Given the description of an element on the screen output the (x, y) to click on. 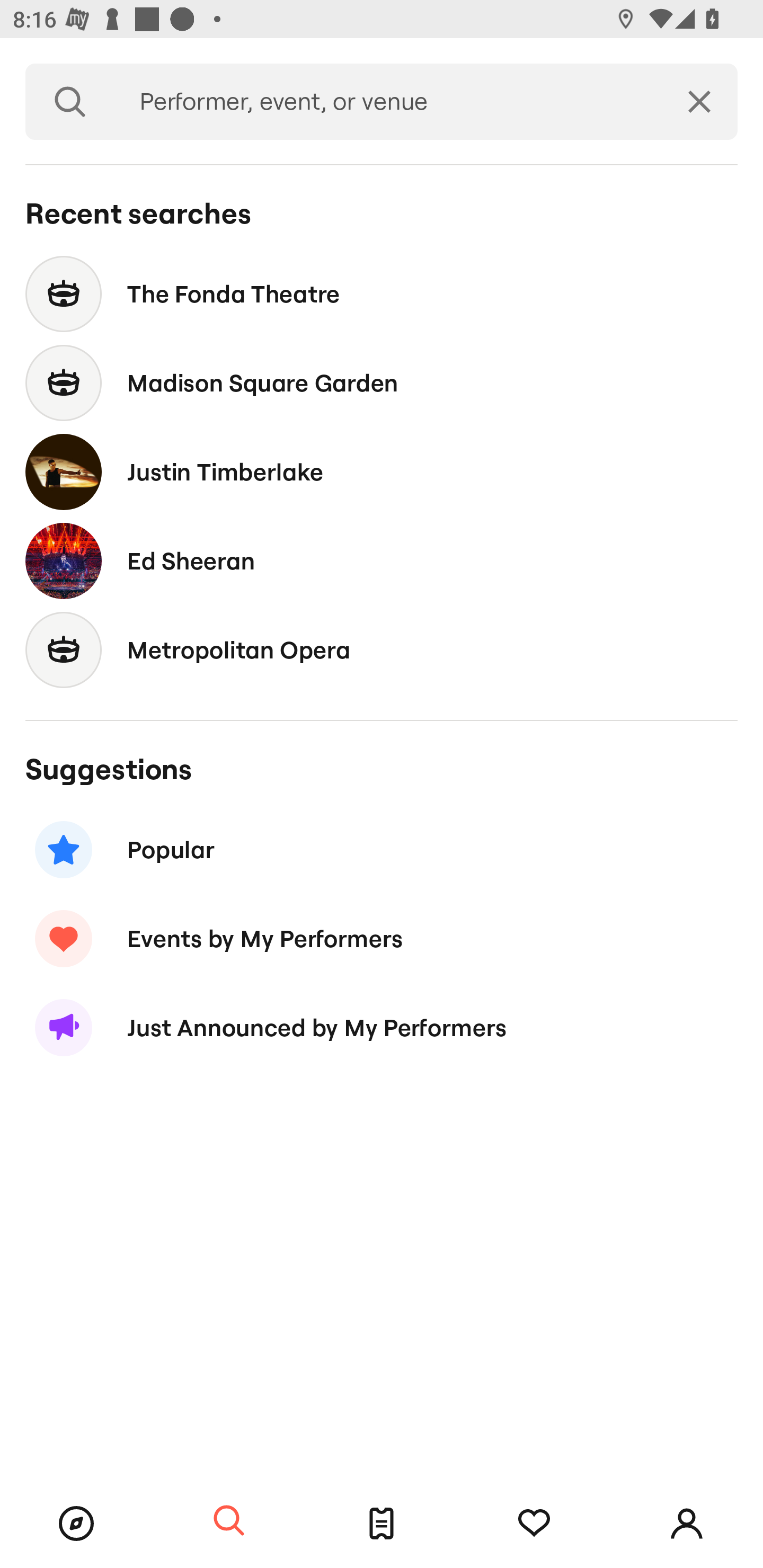
Search (69, 101)
Performer, event, or venue (387, 101)
Clear (699, 101)
The Fonda Theatre (381, 293)
Madison Square Garden (381, 383)
Justin Timberlake (381, 471)
Ed Sheeran (381, 560)
Metropolitan Opera (381, 649)
Popular (381, 849)
Events by My Performers (381, 938)
Just Announced by My Performers (381, 1027)
Browse (76, 1523)
Search (228, 1521)
Tickets (381, 1523)
Tracking (533, 1523)
Account (686, 1523)
